Given the description of an element on the screen output the (x, y) to click on. 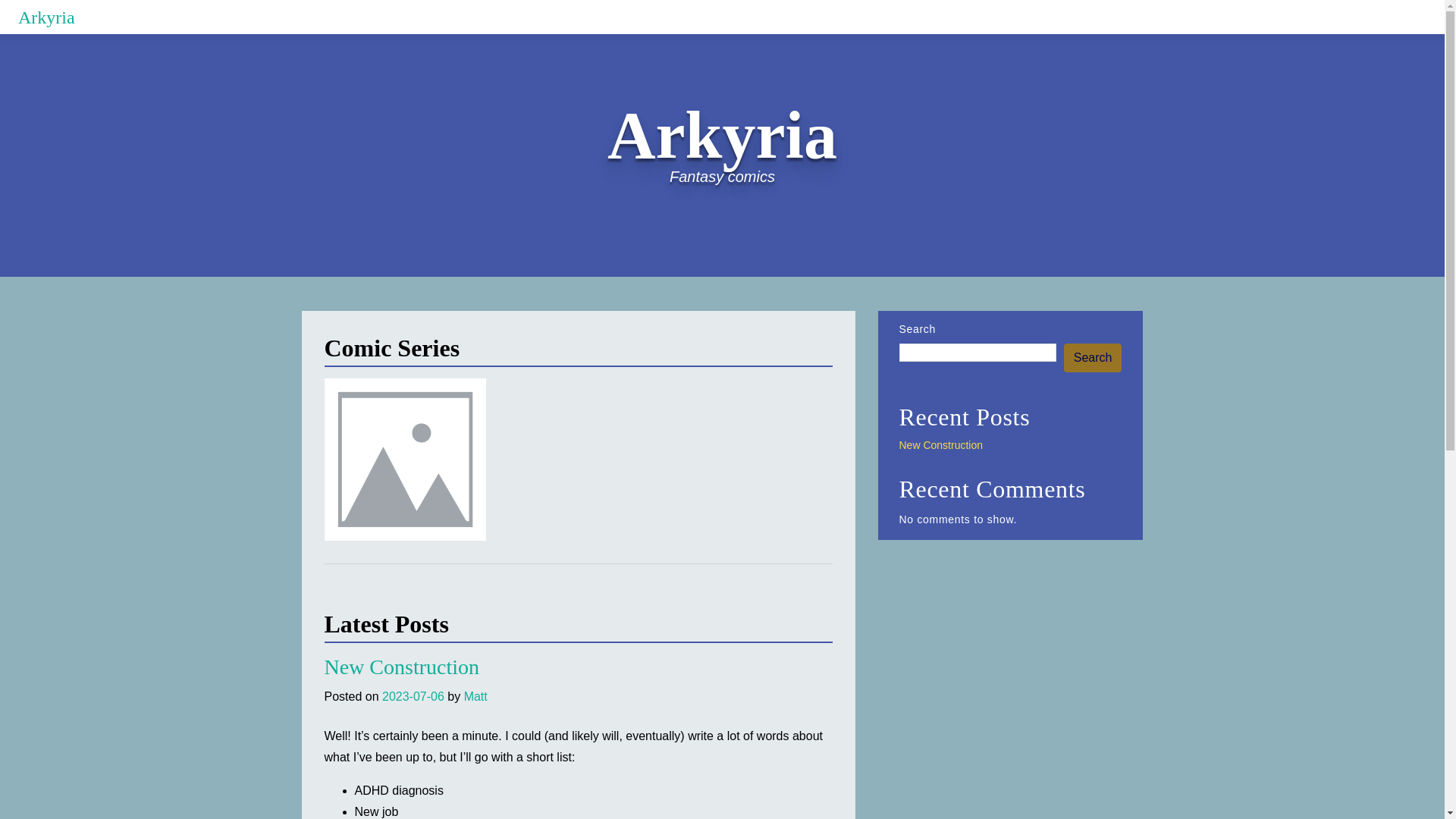
New Construction (402, 666)
Search (1093, 357)
Matt (475, 696)
Arkyria (46, 16)
New Construction (941, 444)
Arkyria (46, 16)
2023-07-06 (412, 696)
